Given the description of an element on the screen output the (x, y) to click on. 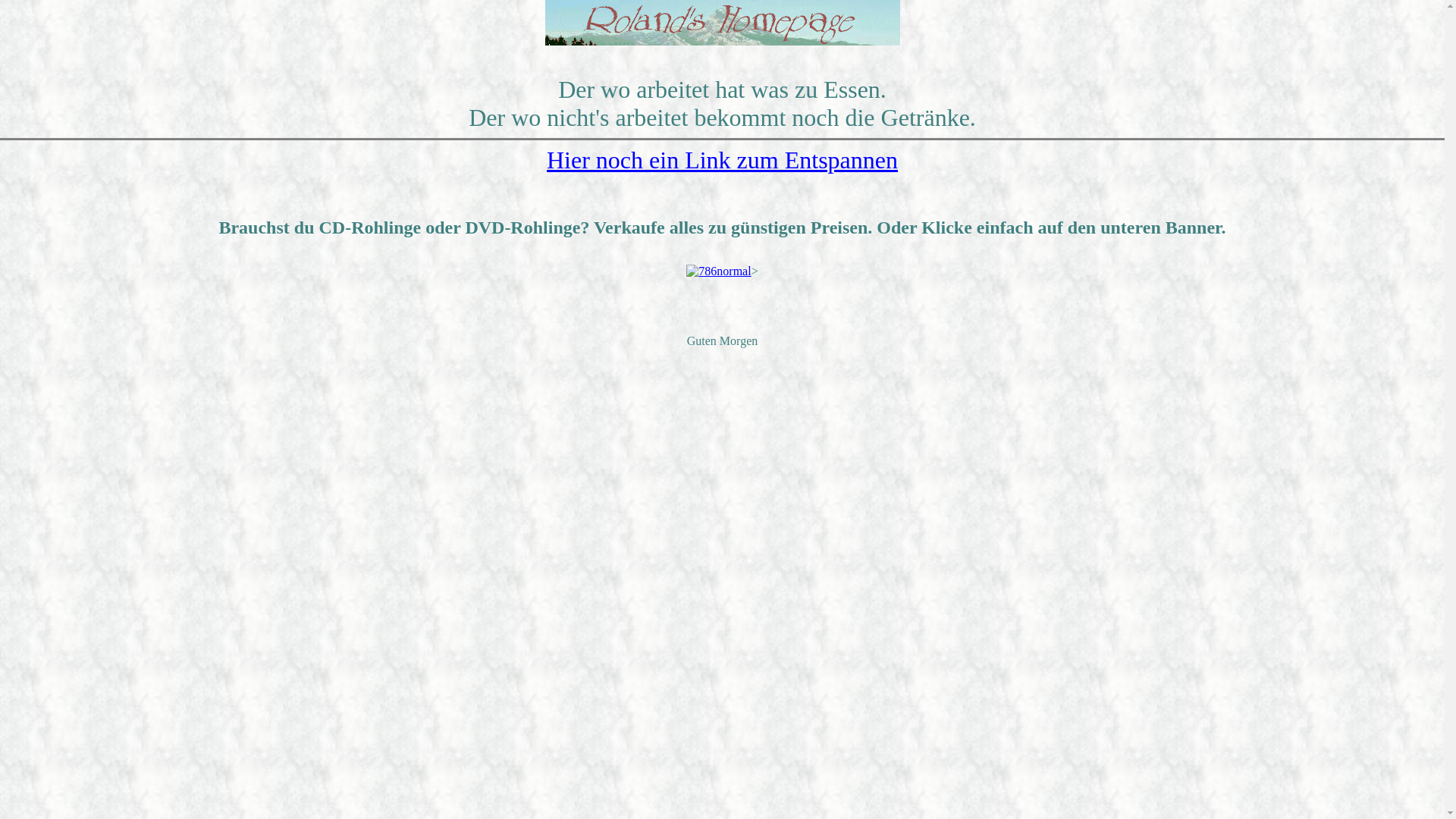
Hier noch ein Link zum Entspannen Element type: text (721, 159)
